Given the description of an element on the screen output the (x, y) to click on. 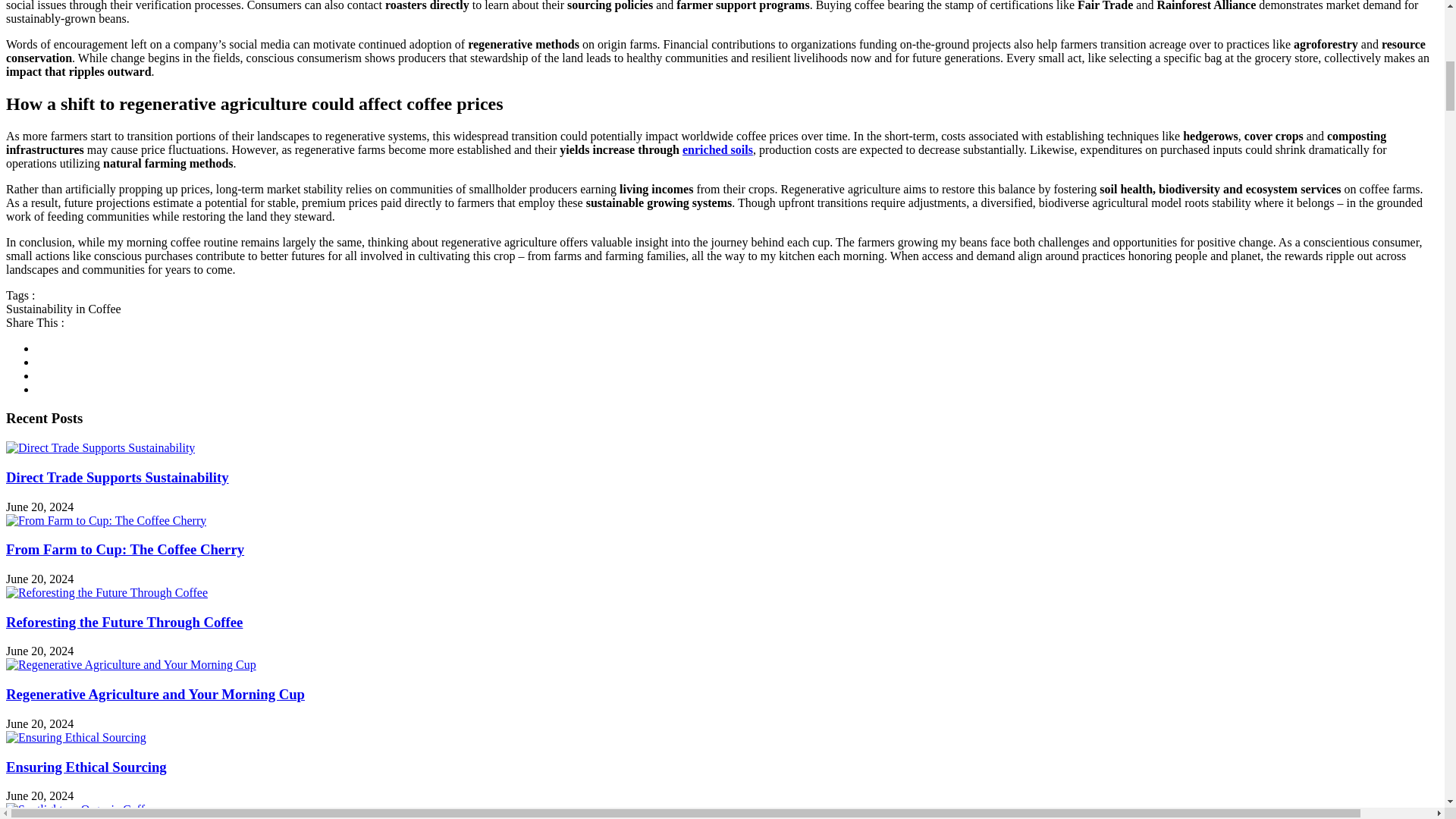
Direct Trade Supports Sustainability (100, 448)
From Farm to Cup: The Coffee Cherry (105, 520)
enriched soils (717, 149)
Ensuring Ethical Sourcing (76, 737)
Regenerative Agriculture and Your Morning Cup (130, 664)
Spotlight on Organic Coffee (80, 809)
Reforesting the Future Through Coffee (106, 592)
